Given the description of an element on the screen output the (x, y) to click on. 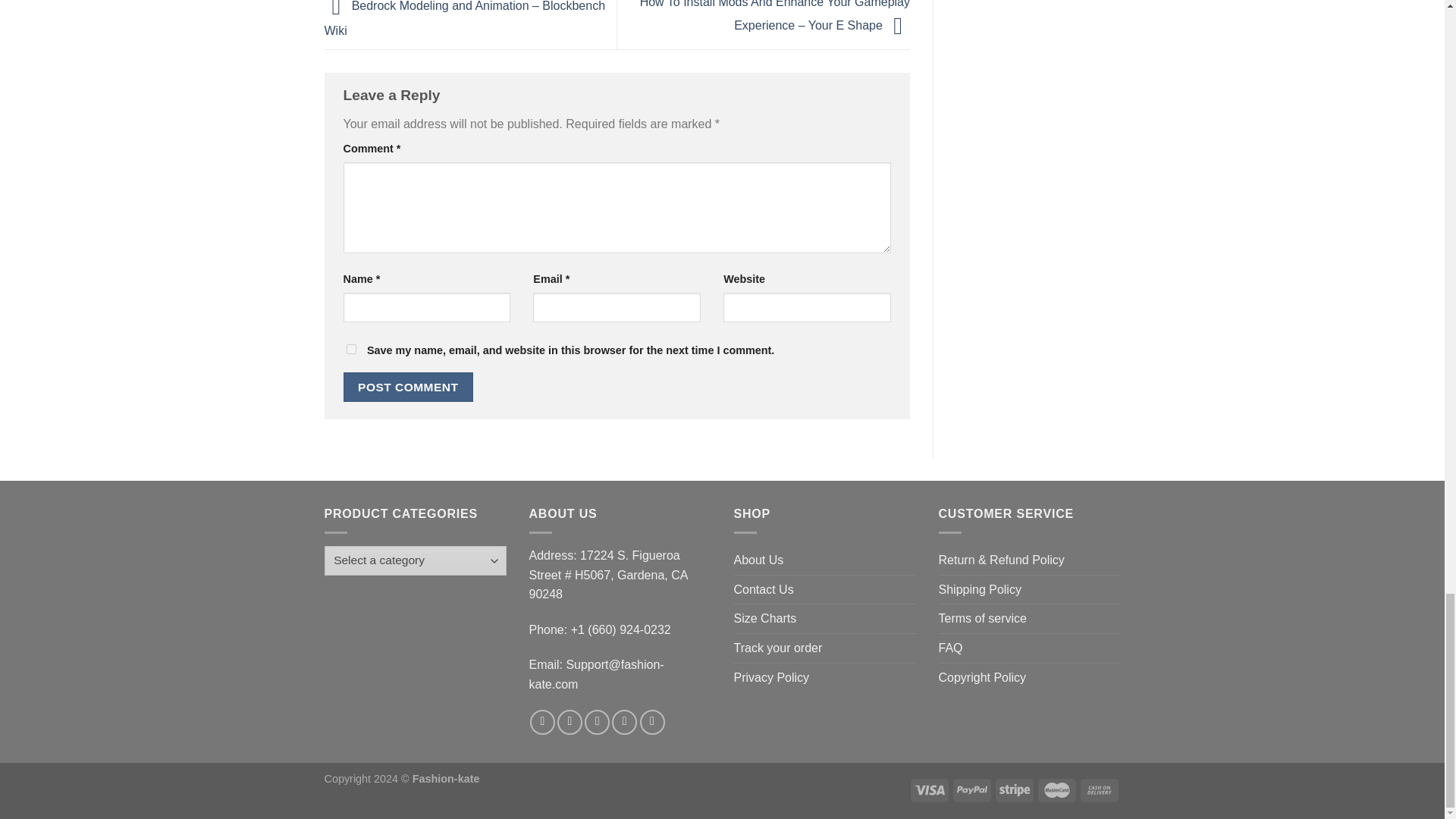
yes (350, 348)
Post Comment (407, 387)
Post Comment (407, 387)
